Given the description of an element on the screen output the (x, y) to click on. 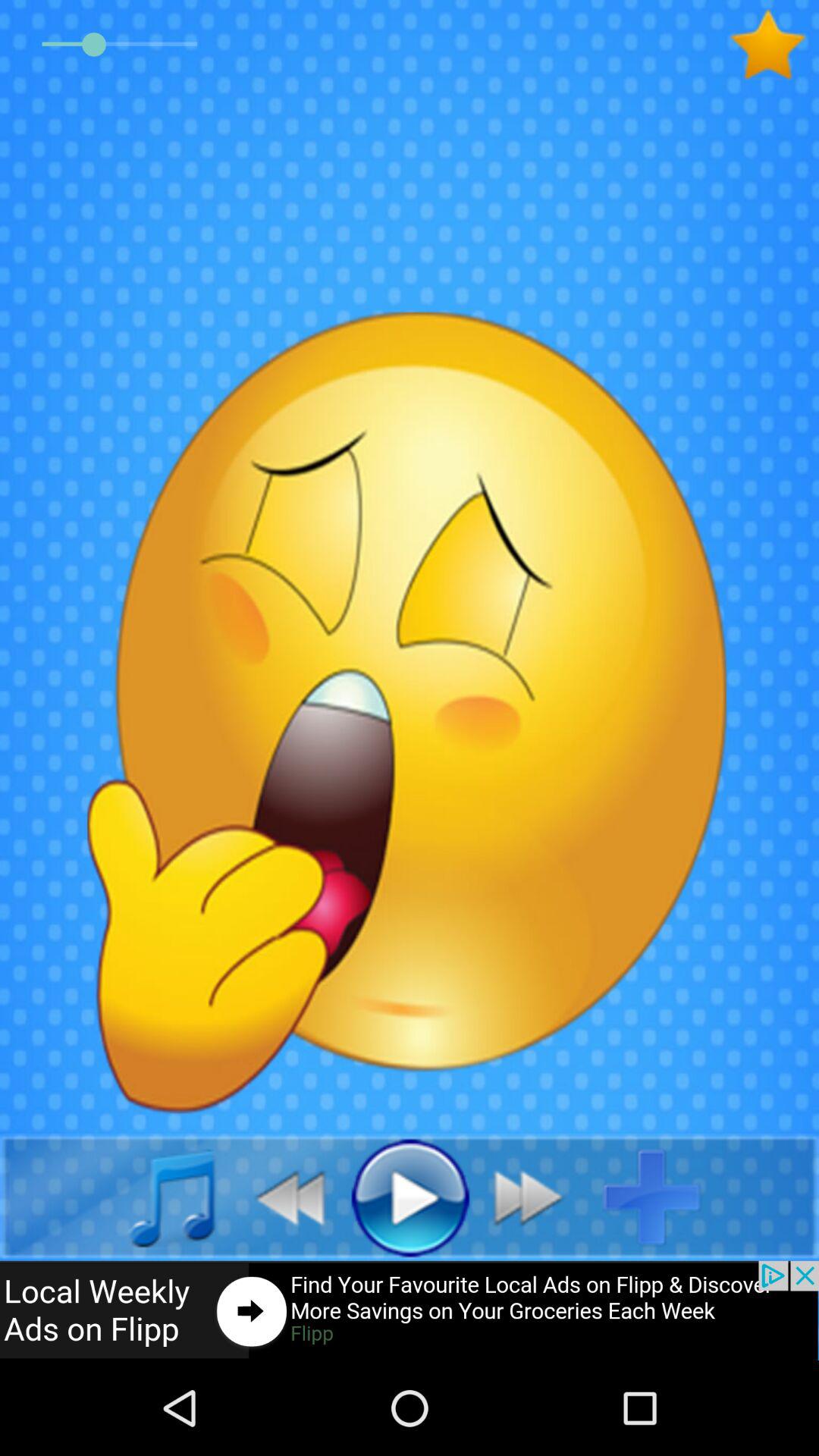
play (409, 1196)
